Given the description of an element on the screen output the (x, y) to click on. 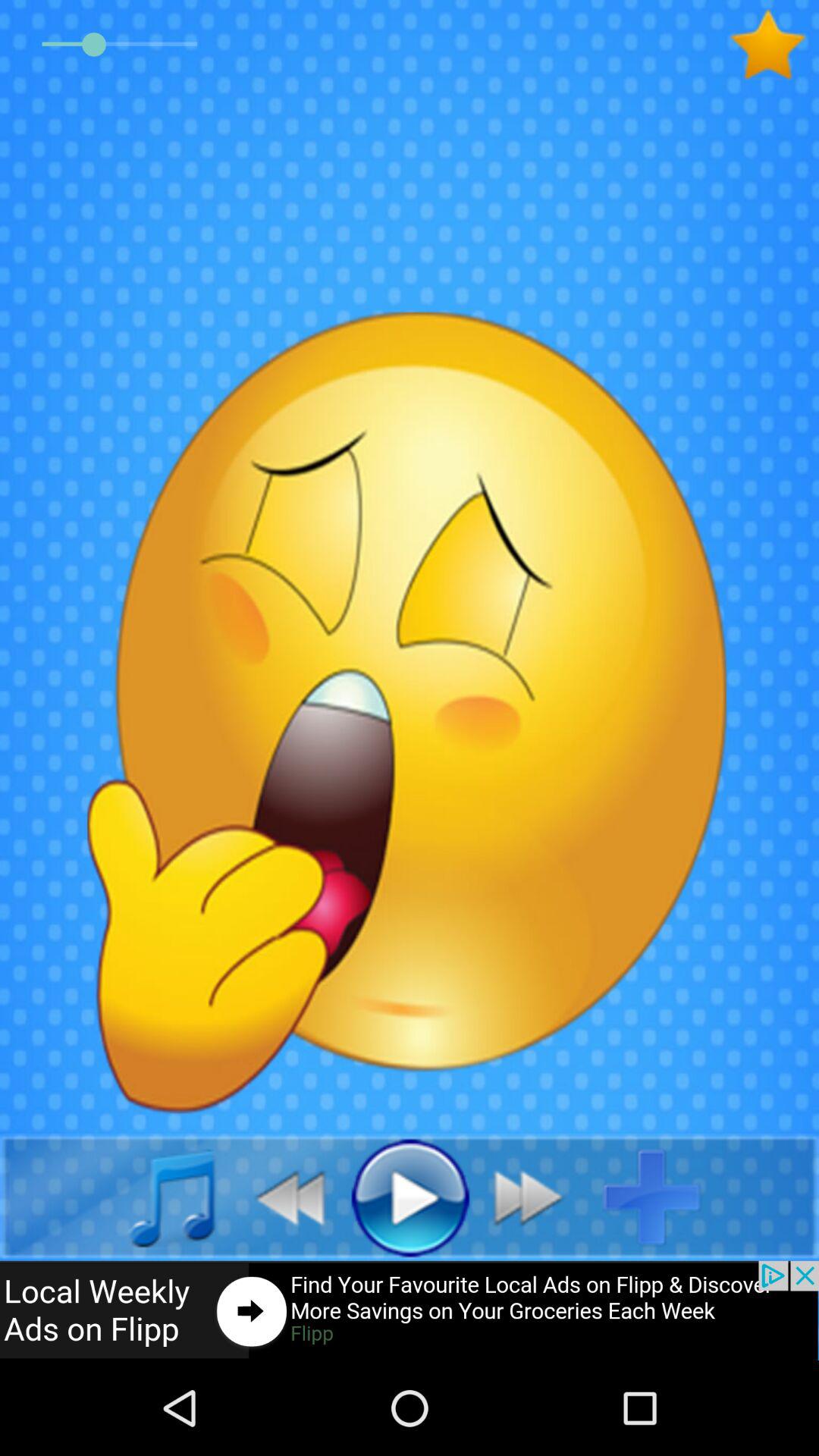
play (409, 1196)
